Given the description of an element on the screen output the (x, y) to click on. 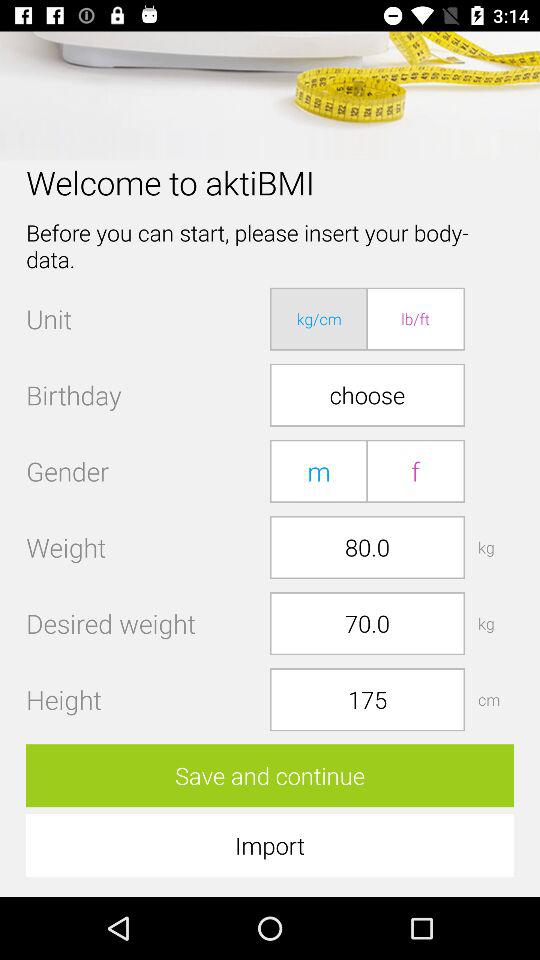
jump until m item (319, 470)
